Given the description of an element on the screen output the (x, y) to click on. 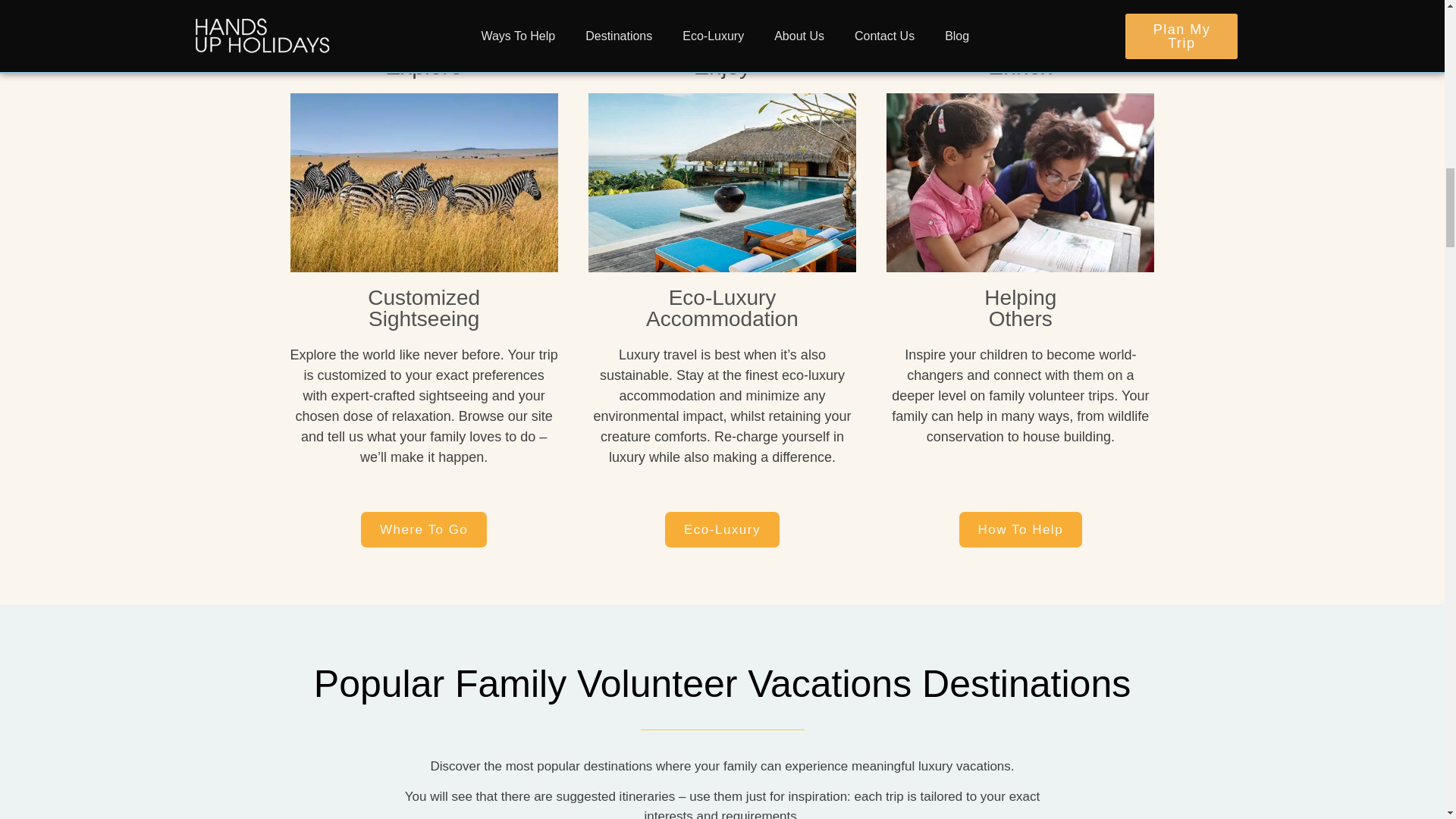
Where To Go (423, 529)
Eco-Luxury (721, 529)
